Given the description of an element on the screen output the (x, y) to click on. 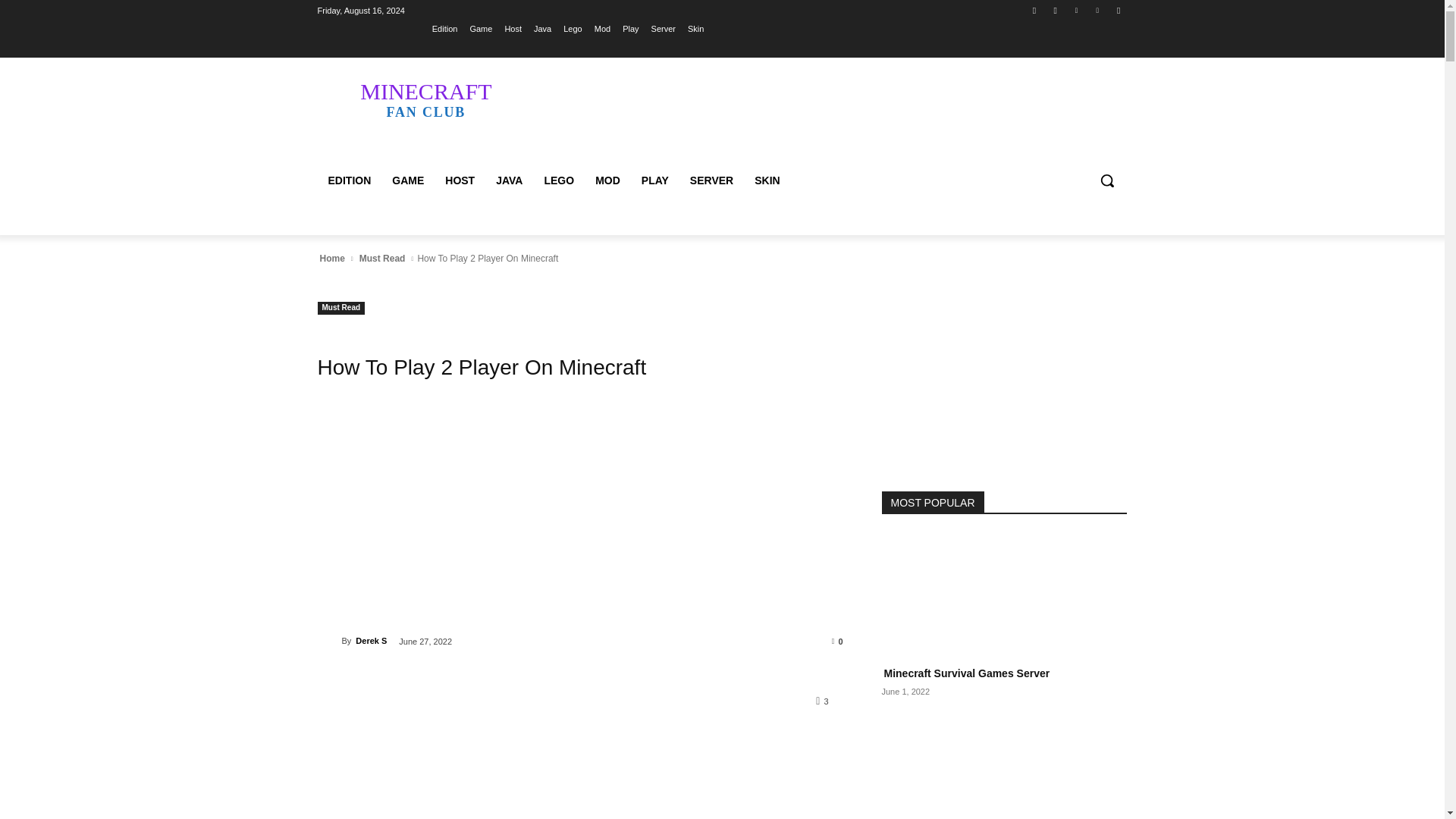
Game (480, 28)
GAME (407, 180)
Facebook (1034, 9)
Vimeo (1097, 9)
Twitter (1075, 9)
Youtube (1117, 9)
View all posts in Must Read (381, 258)
Derek S (328, 640)
Instagram (1055, 9)
EDITION (349, 180)
